Given the description of an element on the screen output the (x, y) to click on. 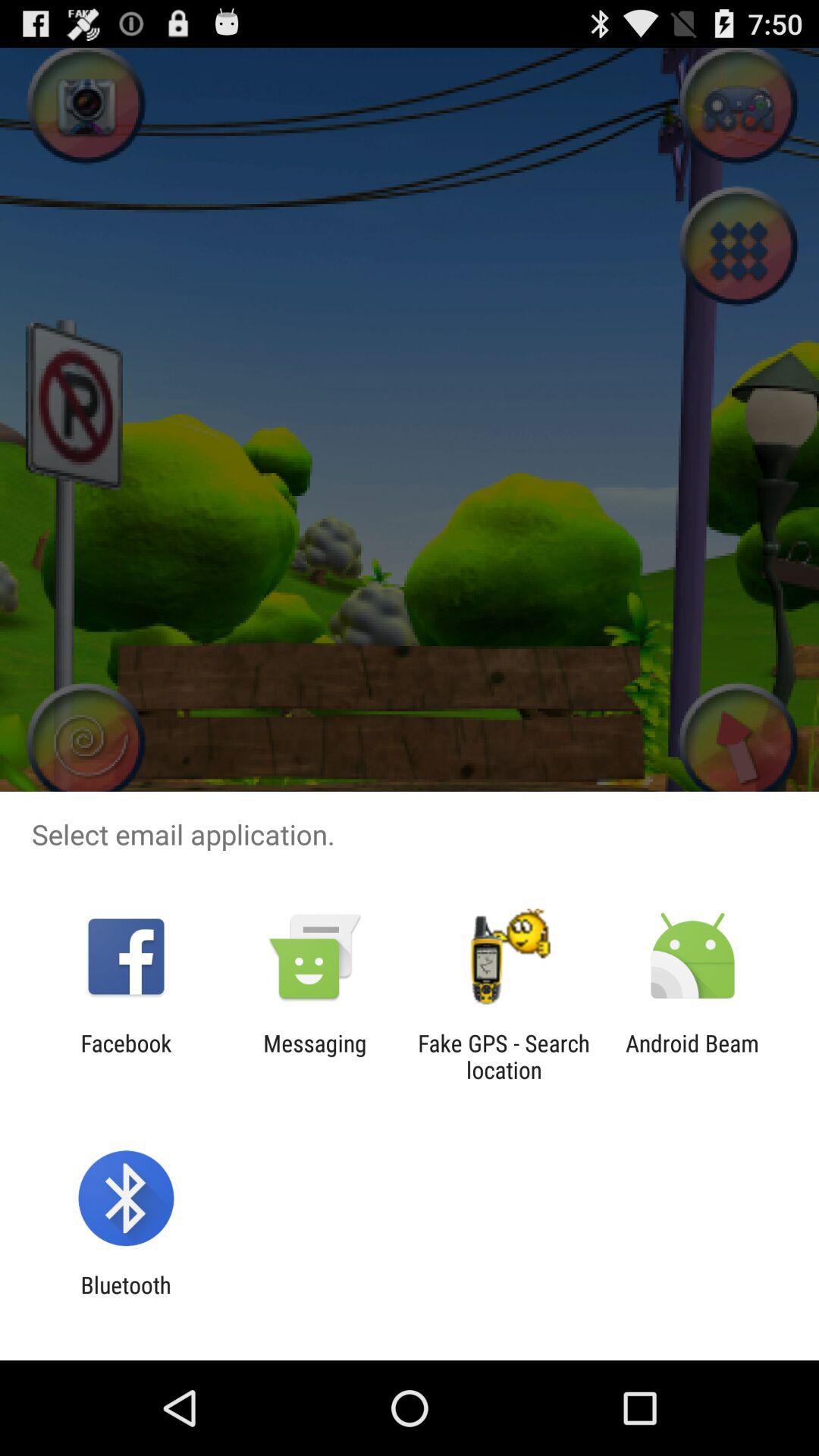
press icon at the bottom right corner (692, 1056)
